Given the description of an element on the screen output the (x, y) to click on. 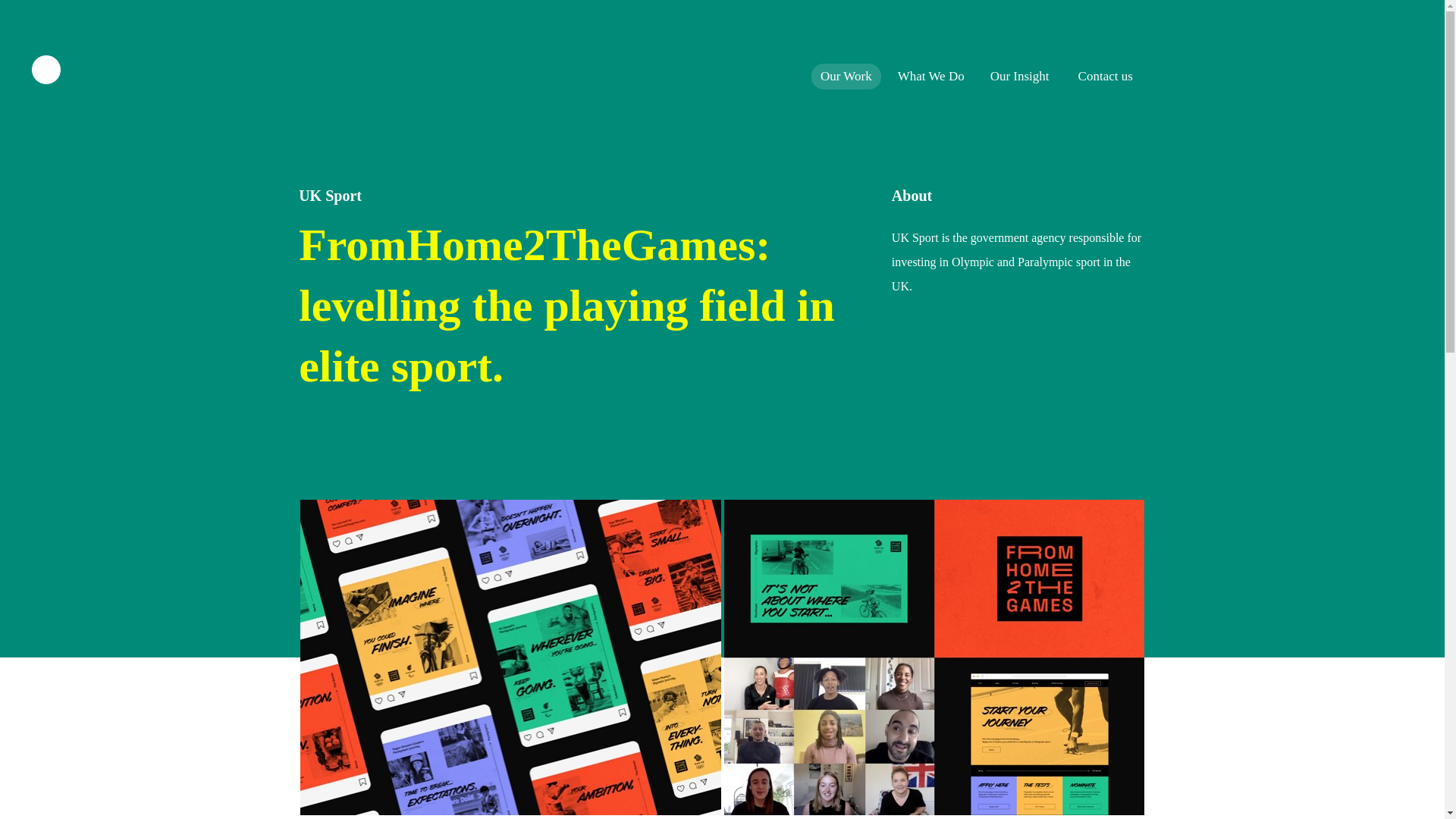
What We Do (931, 76)
Our Work (845, 76)
True Digital (340, 68)
Contact us (1104, 76)
True Digital (340, 68)
Our Insight (1019, 76)
